Given the description of an element on the screen output the (x, y) to click on. 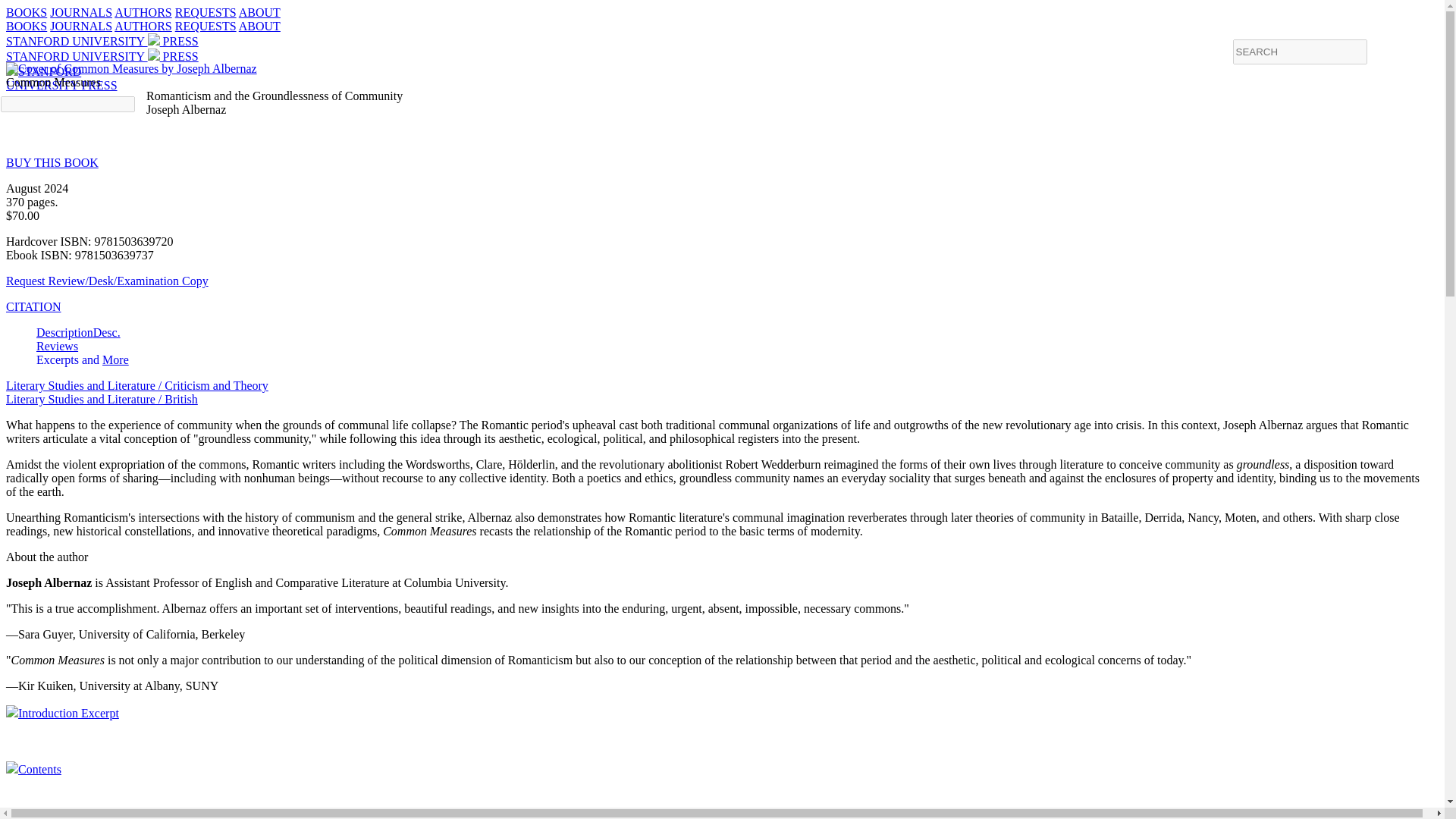
ABOUT (259, 25)
REQUESTS (204, 11)
DescriptionDesc. (78, 332)
BOOKS (61, 78)
ABOUT (25, 11)
JOURNALS (259, 11)
Reviews (115, 359)
STANFORD UNIVERSITY PRESS (80, 11)
